Given the description of an element on the screen output the (x, y) to click on. 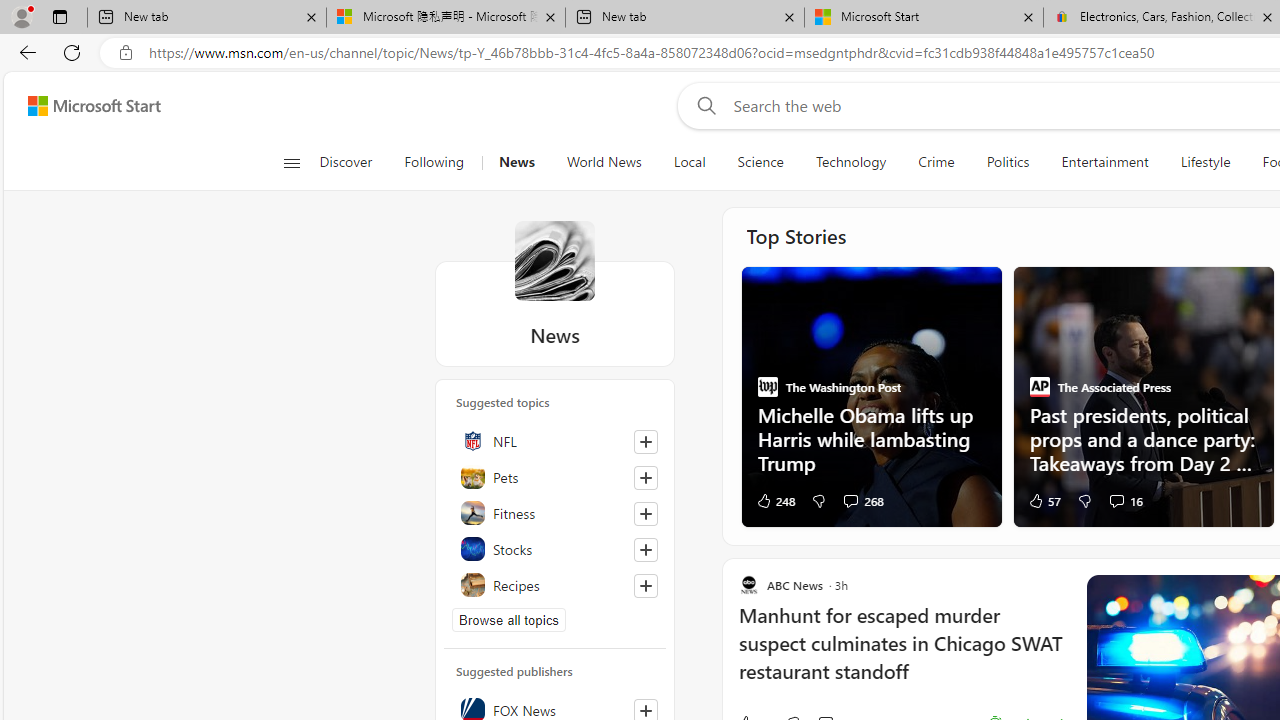
Politics (1007, 162)
Science (760, 162)
